Given the description of an element on the screen output the (x, y) to click on. 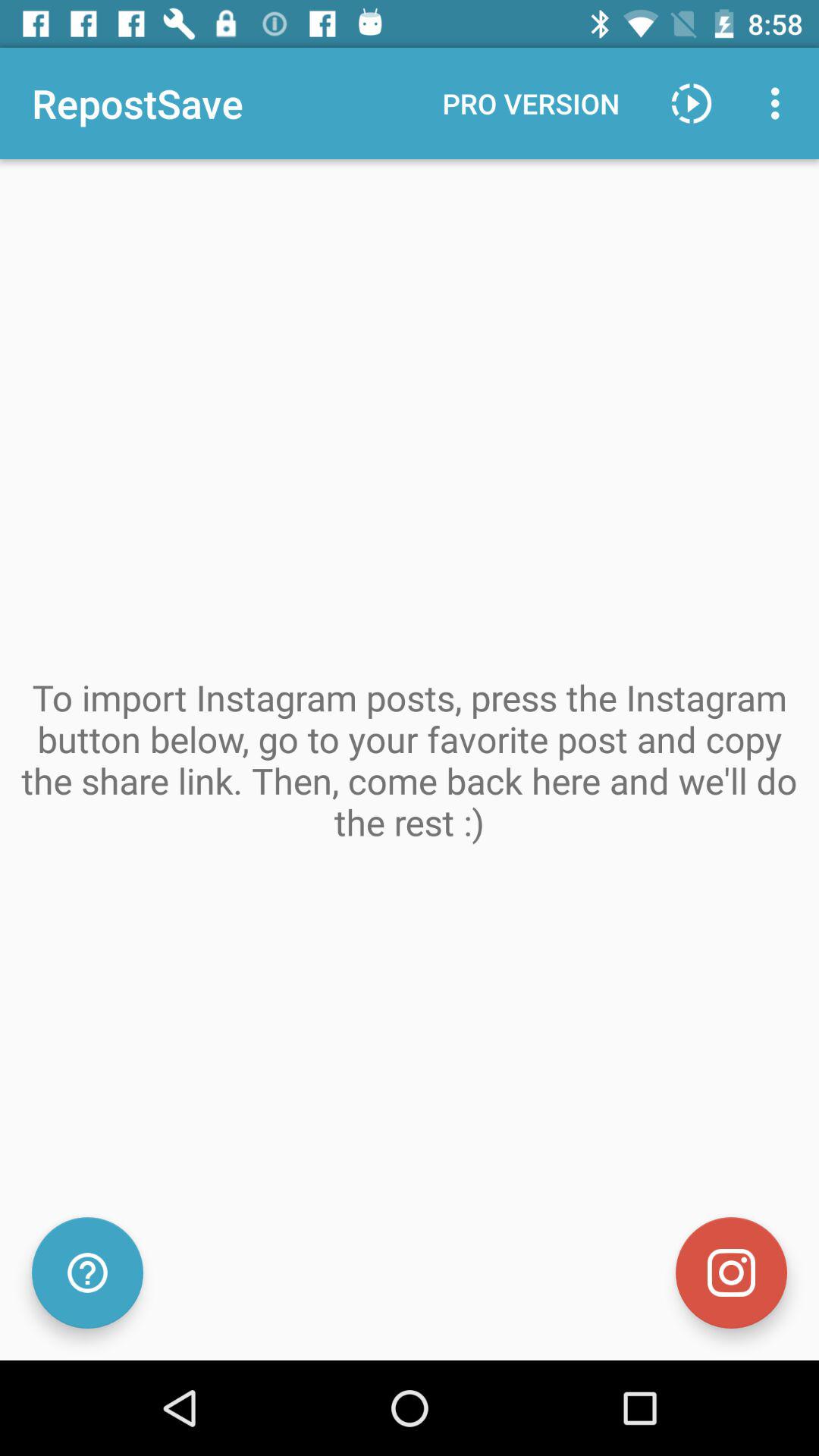
press the pro version (530, 103)
